Given the description of an element on the screen output the (x, y) to click on. 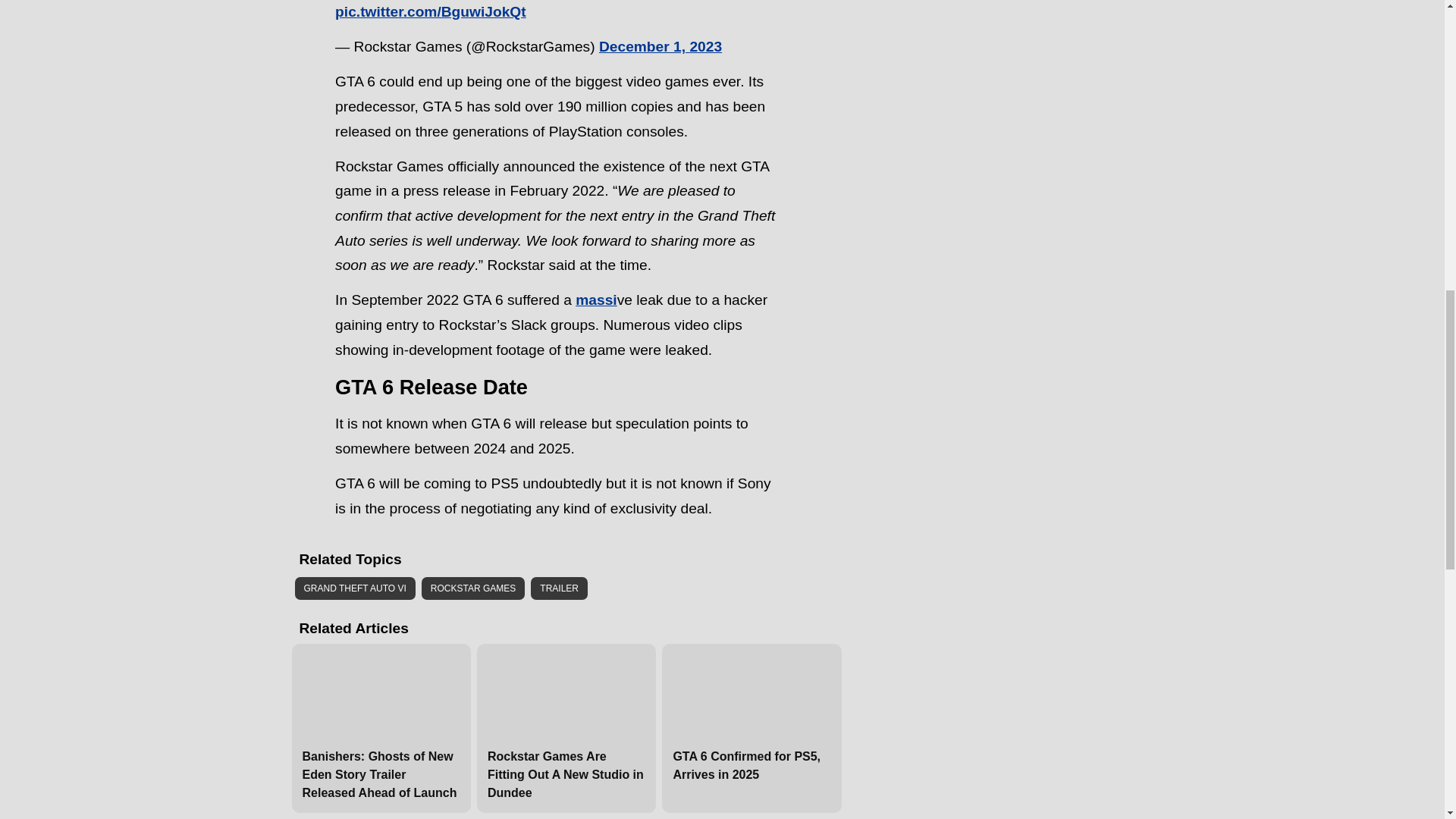
December 1, 2023 (660, 46)
